Given the description of an element on the screen output the (x, y) to click on. 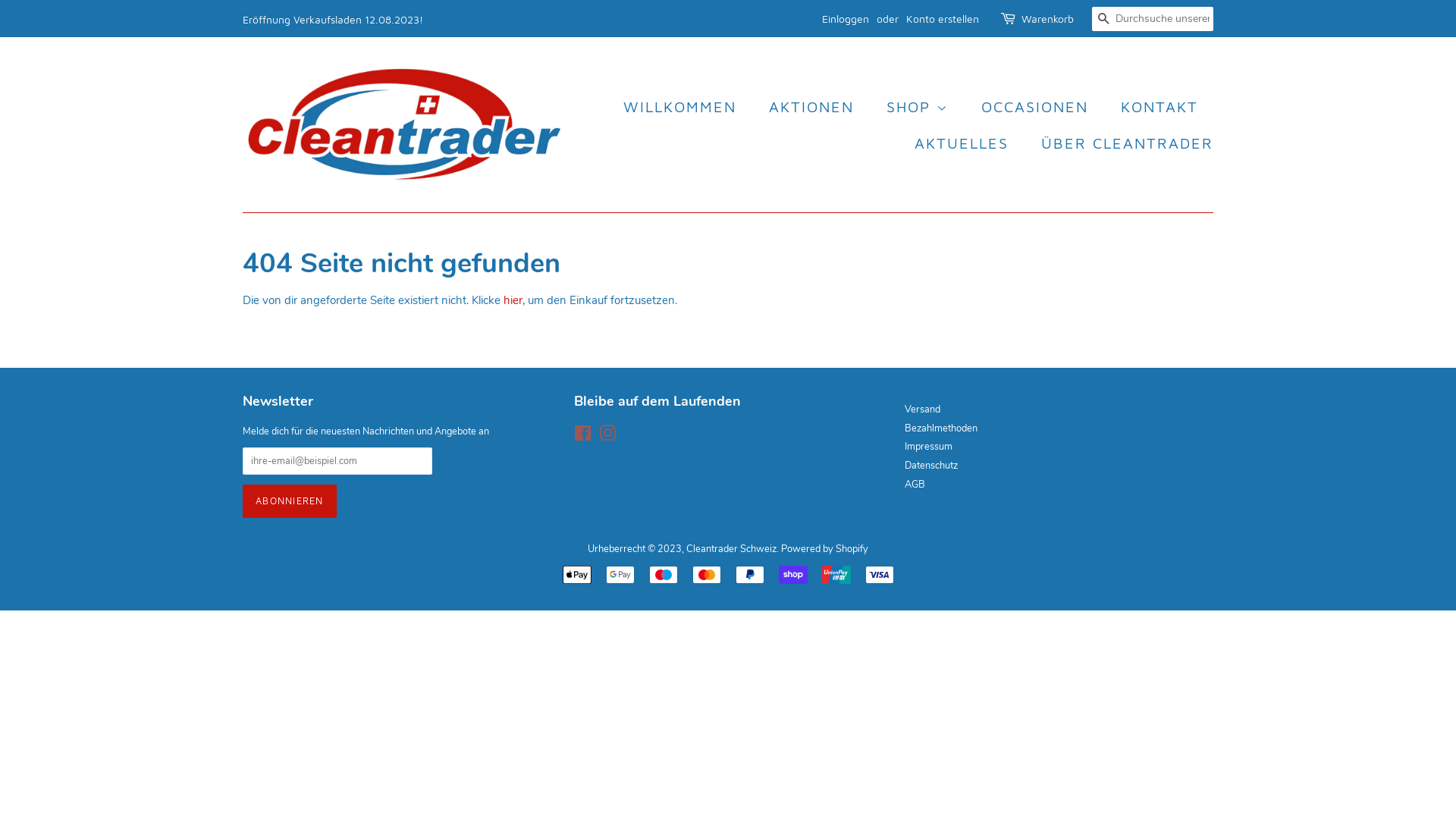
SHOP Element type: text (919, 106)
Abonnieren Element type: text (289, 500)
Bezahlmethoden Element type: text (940, 428)
Warenkorb Element type: text (1047, 18)
Instagram Element type: text (607, 436)
Konto erstellen Element type: text (942, 18)
Impressum Element type: text (928, 446)
AKTUELLES Element type: text (963, 143)
hier Element type: text (512, 299)
KONTAKT Element type: text (1161, 106)
Versand Element type: text (922, 409)
WILLKOMMEN Element type: text (687, 106)
Datenschutz Element type: text (930, 465)
OCCASIONEN Element type: text (1036, 106)
Facebook Element type: text (582, 436)
SUCHEN Element type: text (1104, 18)
AKTIONEN Element type: text (813, 106)
AGB Element type: text (914, 484)
Cleantrader Schweiz Element type: text (731, 548)
Einloggen Element type: text (845, 18)
